Given the description of an element on the screen output the (x, y) to click on. 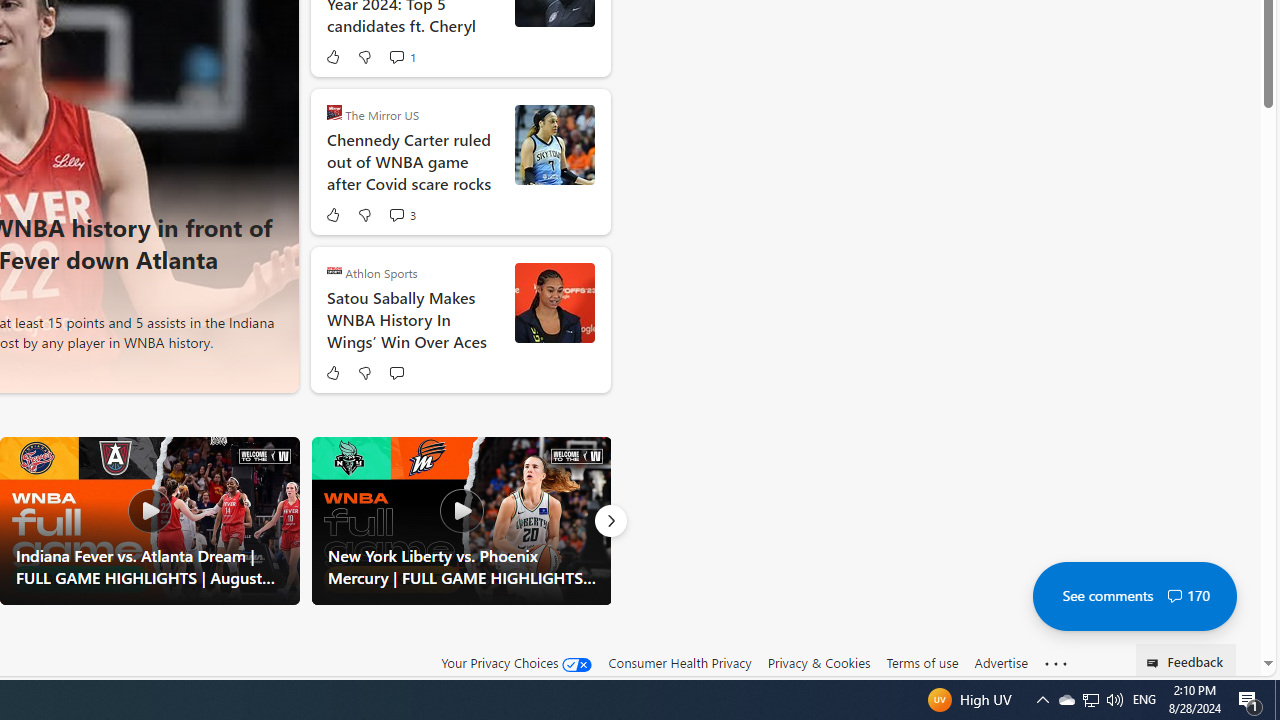
Advertise (1000, 662)
View comments 3 Comment (401, 214)
Privacy & Cookies (818, 662)
Athlon Sports (333, 269)
Class: feedback_link_icon-DS-EntryPoint1-1 (1156, 663)
Class: cwt-icon-vector (1174, 596)
Terms of use (921, 662)
Next (610, 520)
usatsi_21497924 (554, 302)
View comments 1 Comment (395, 56)
View comments 3 Comment (395, 215)
Advertise (1000, 663)
Start the conversation (395, 372)
